Given the description of an element on the screen output the (x, y) to click on. 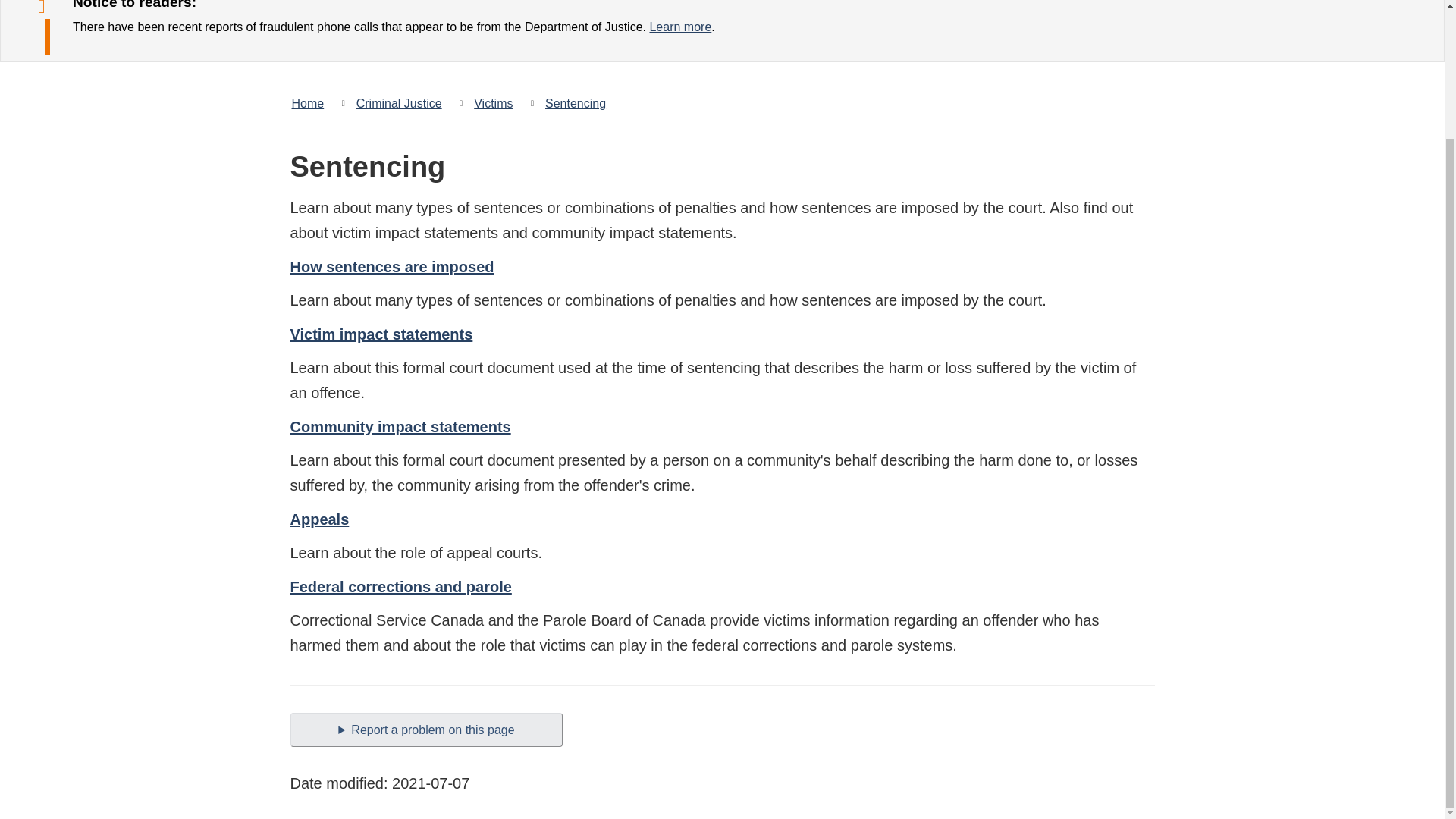
Sentencing (574, 103)
Victim impact statements (380, 334)
Criminal Justice (399, 103)
Federal corrections and parole (400, 586)
Victims (492, 103)
Learn more (680, 26)
Appeals (319, 519)
Community impact statements (400, 426)
How sentences are imposed (391, 266)
Home (311, 103)
